Given the description of an element on the screen output the (x, y) to click on. 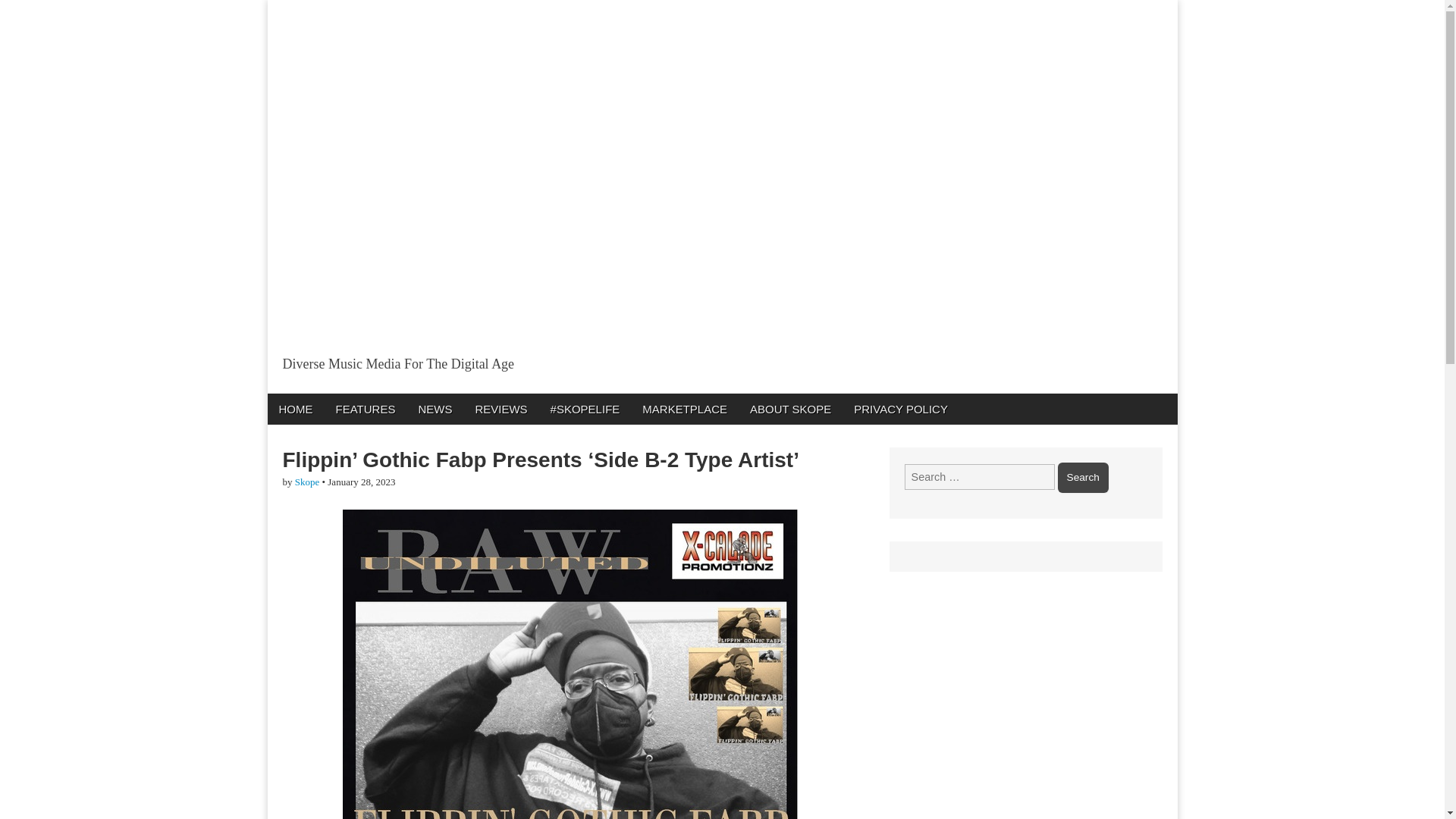
PRIVACY POLICY (901, 408)
Skope Entertainment Inc (462, 397)
Skope (307, 481)
REVIEWS (500, 408)
Search (1083, 477)
ABOUT SKOPE (790, 408)
YouTube video player (478, 223)
FEATURES (365, 408)
MARKETPLACE (684, 408)
Search (1083, 477)
